Given the description of an element on the screen output the (x, y) to click on. 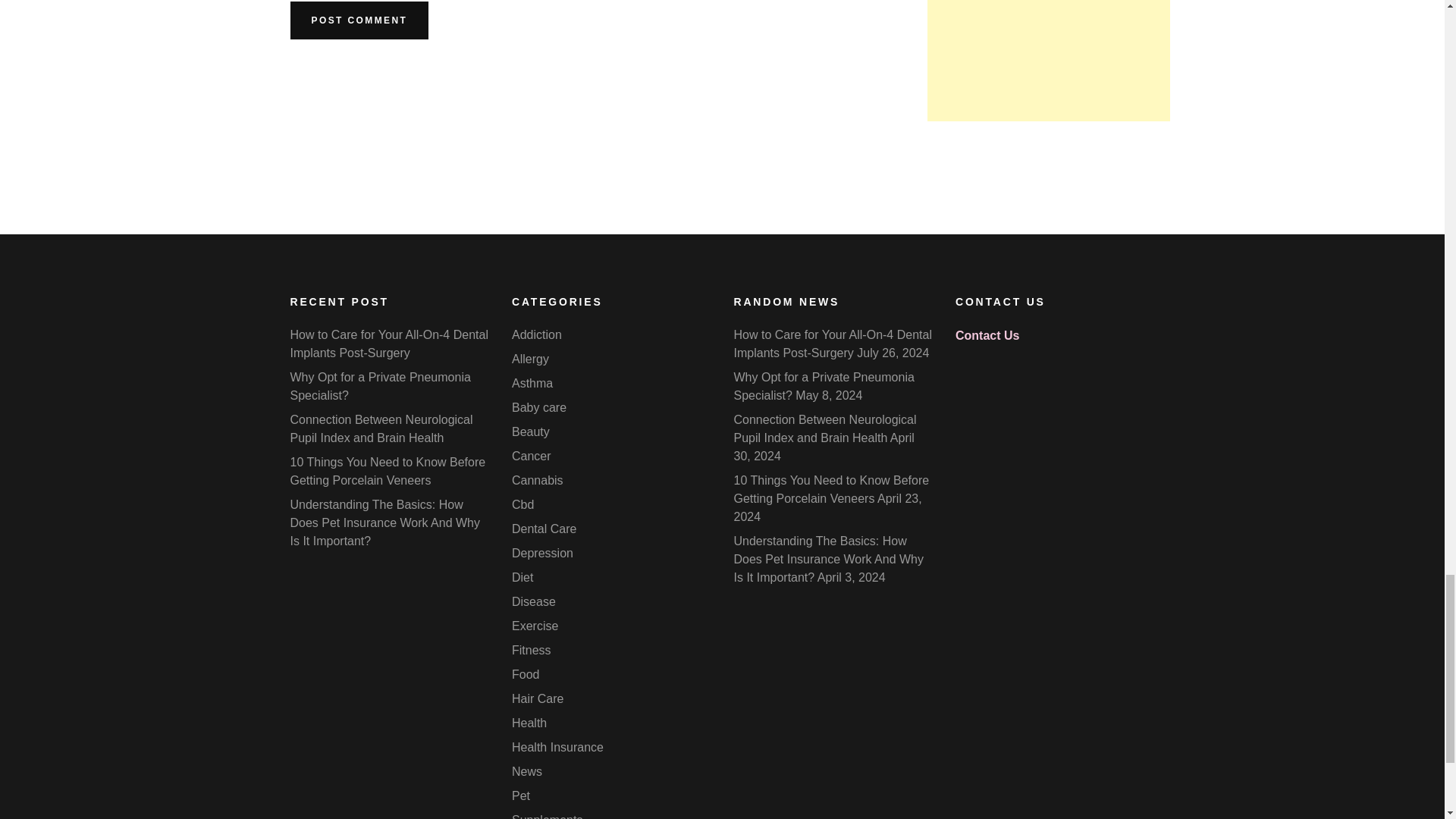
Post Comment (358, 20)
